Given the description of an element on the screen output the (x, y) to click on. 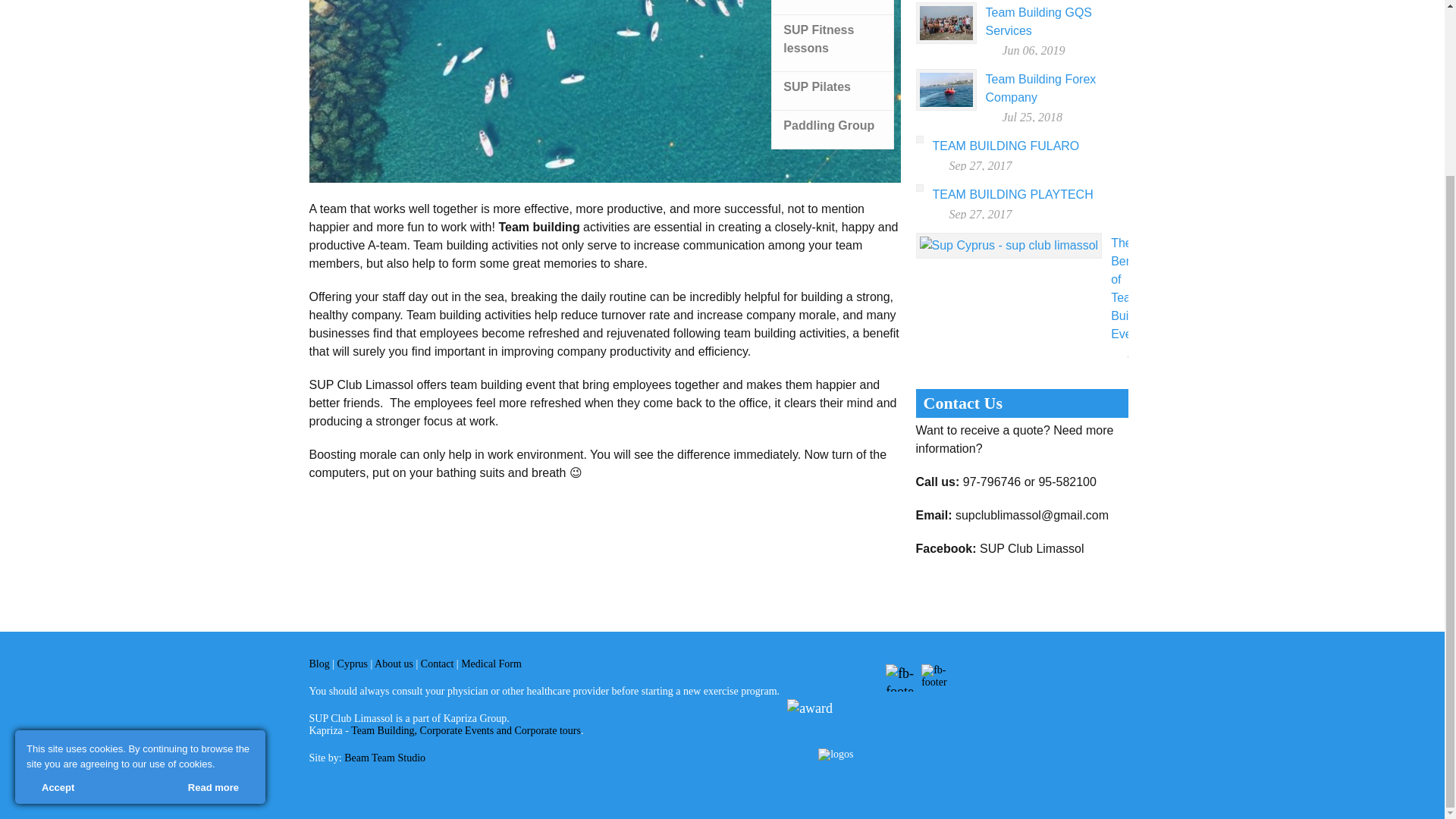
Team Building Forex Company (1040, 88)
The Benefits of Team Building Event (1132, 288)
Team Building, Corporate Events and Corporate tours (465, 730)
Beam Team Studio (384, 757)
About us (393, 663)
TEAM BUILDING PLAYTECH (1013, 194)
Team Building GQS Services (1039, 20)
SUP Beginners lessons (832, 4)
Paddling Group (832, 130)
Medical Form (491, 663)
Cyprus (354, 663)
Client information and medical history form (491, 663)
Blog (319, 663)
SUP Fitness lessons (832, 43)
SUP Pilates (832, 90)
